Given the description of an element on the screen output the (x, y) to click on. 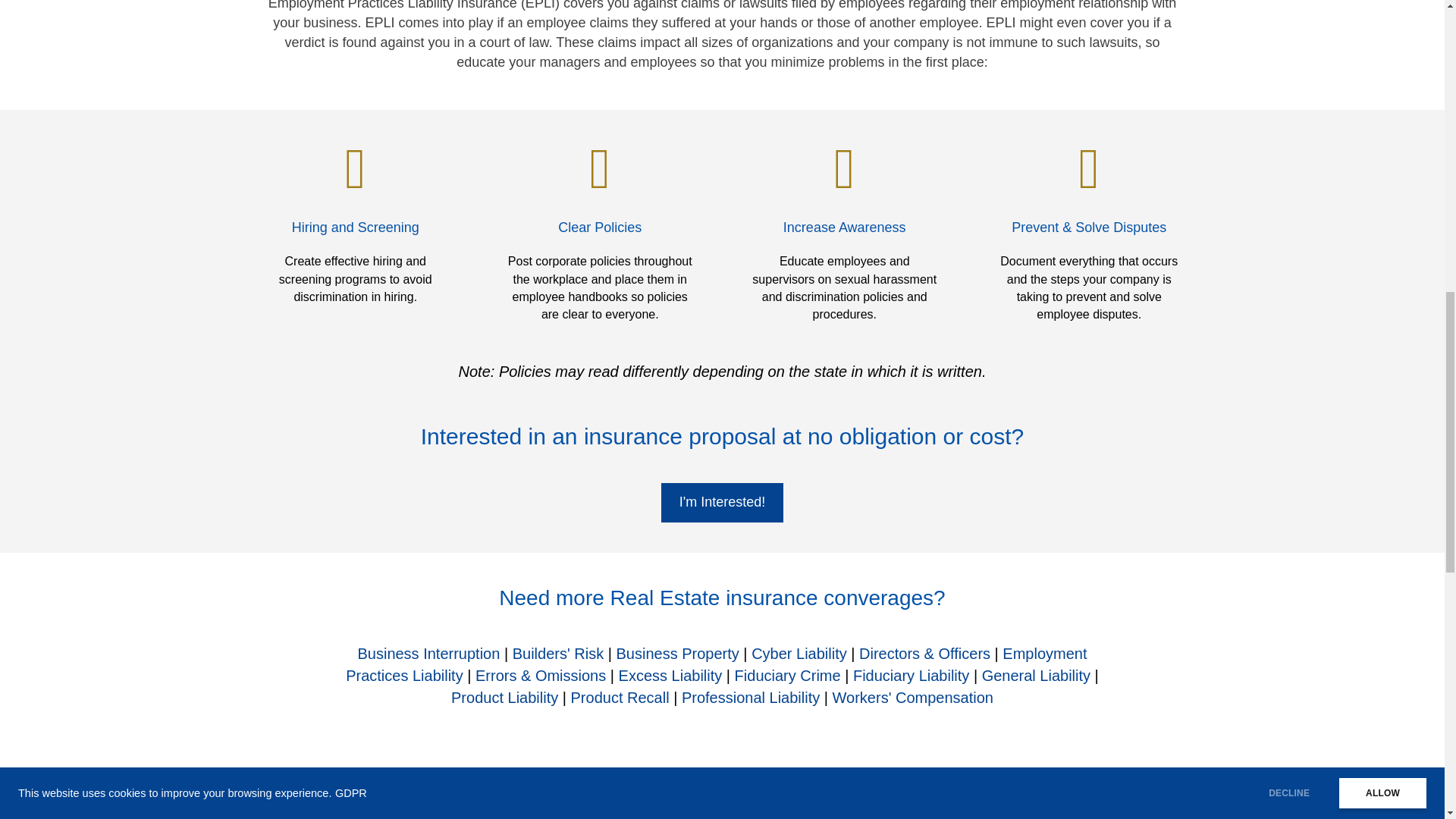
Business Interruption (427, 653)
Builders' Risk (558, 653)
Business Property (677, 653)
Cyber Liability (799, 653)
I'M Interested! (722, 502)
